Given the description of an element on the screen output the (x, y) to click on. 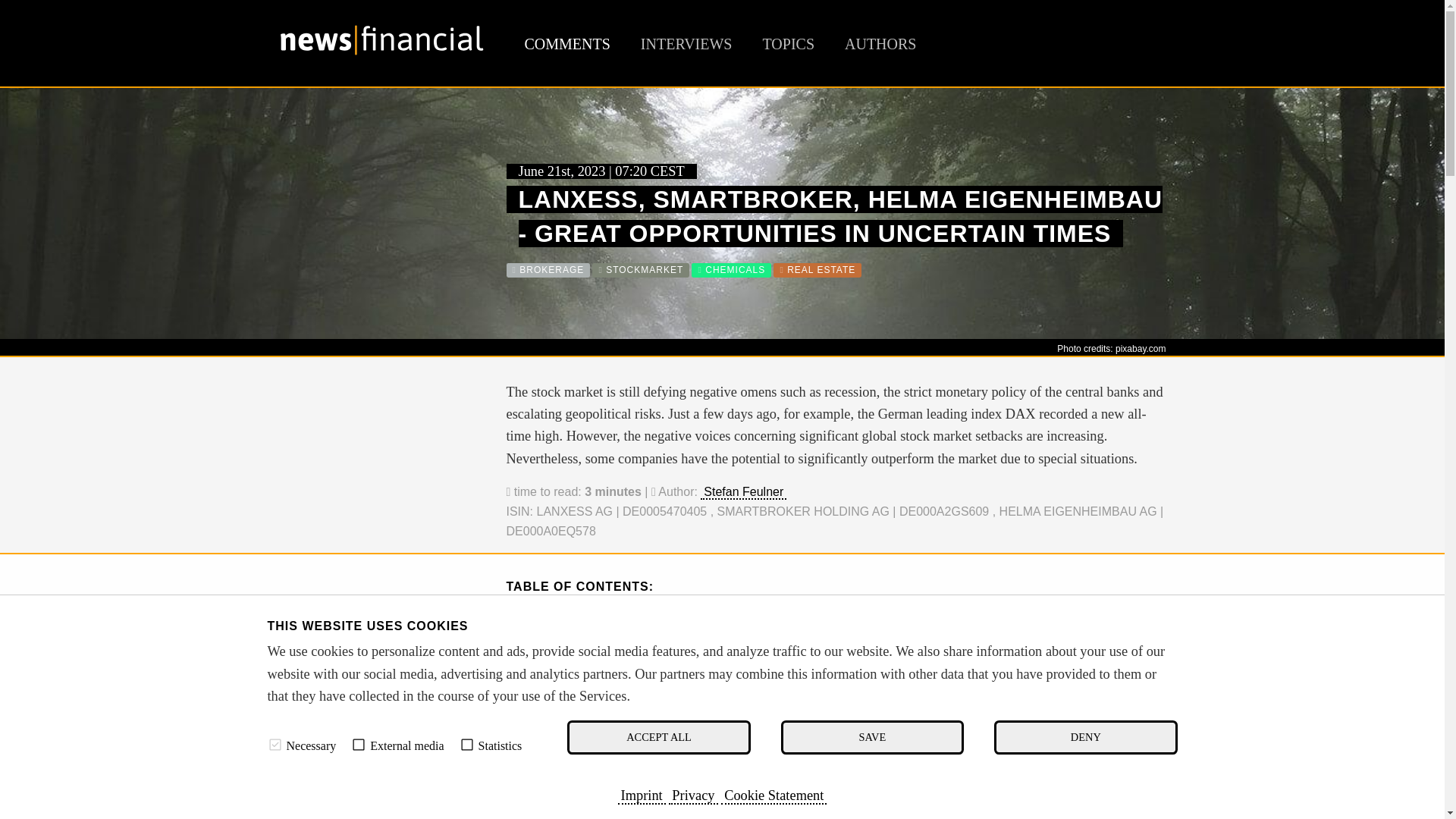
Imprint (641, 795)
Cookie Statement (773, 795)
SMARTBROKER HOLDING AG - THE COUNTDOWN IS ON (717, 629)
TOPICS (787, 44)
SAVE (871, 737)
COMMENTS (566, 44)
AUTHORS (879, 44)
HELMA EIGENHEIMBAU - BOTTOMLESS PIT (676, 648)
INTERVIEWS (686, 44)
DENY (1085, 737)
Privacy (692, 795)
Stefan Feulner (743, 492)
LANXESS - HEADING SOUTH WITH A PROFIT WARNING (714, 667)
ACCEPT ALL (658, 737)
